Given the description of an element on the screen output the (x, y) to click on. 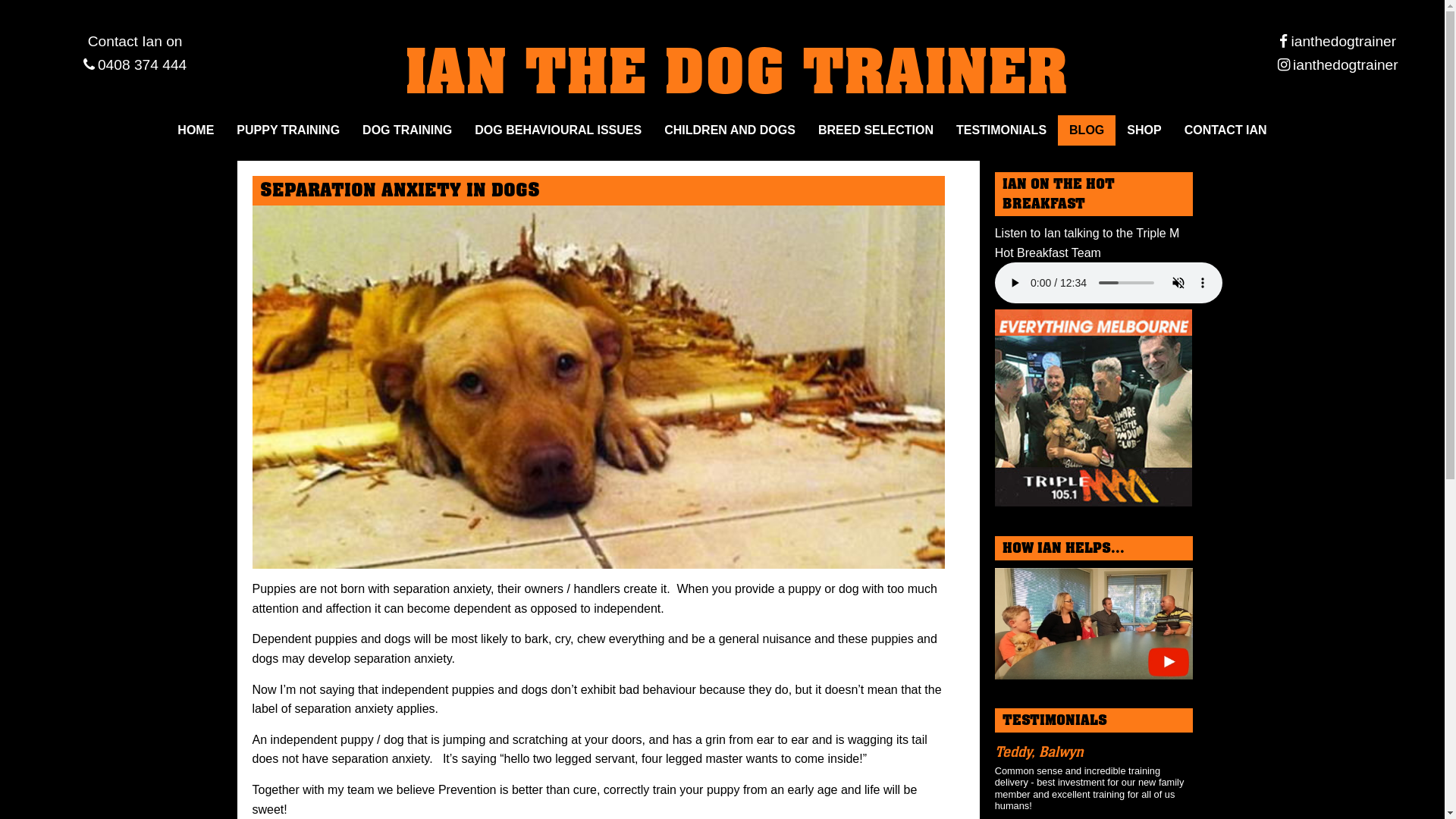
BLOG Element type: text (1086, 130)
SHOP Element type: text (1143, 130)
CONTACT IAN Element type: text (1225, 130)
TESTIMONIALS Element type: text (1000, 130)
CHILDREN AND DOGS Element type: text (729, 130)
ianthedogtrainer Element type: text (1337, 64)
PUPPY TRAINING Element type: text (288, 130)
Contact Ian Element type: text (124, 41)
HOME Element type: text (195, 130)
0408 374 444 Element type: text (134, 64)
ianthedogtrainer Element type: text (1337, 41)
BREED SELECTION Element type: text (875, 130)
DOG BEHAVIOURAL ISSUES Element type: text (557, 130)
DOG TRAINING Element type: text (407, 130)
